Given the description of an element on the screen output the (x, y) to click on. 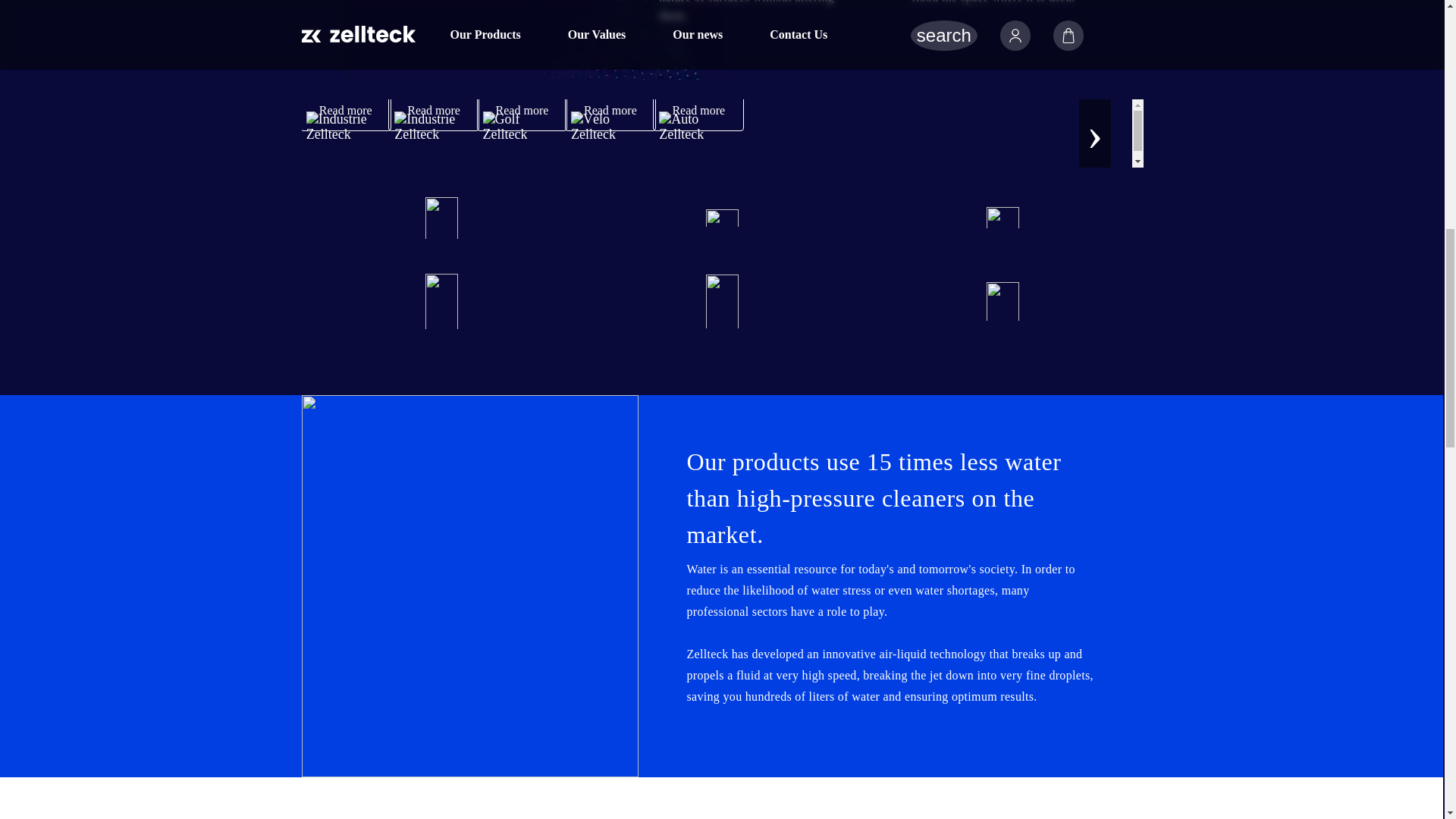
Read more (610, 110)
Read more (698, 110)
Read more (522, 110)
Read more (345, 110)
Read more (433, 110)
